Given the description of an element on the screen output the (x, y) to click on. 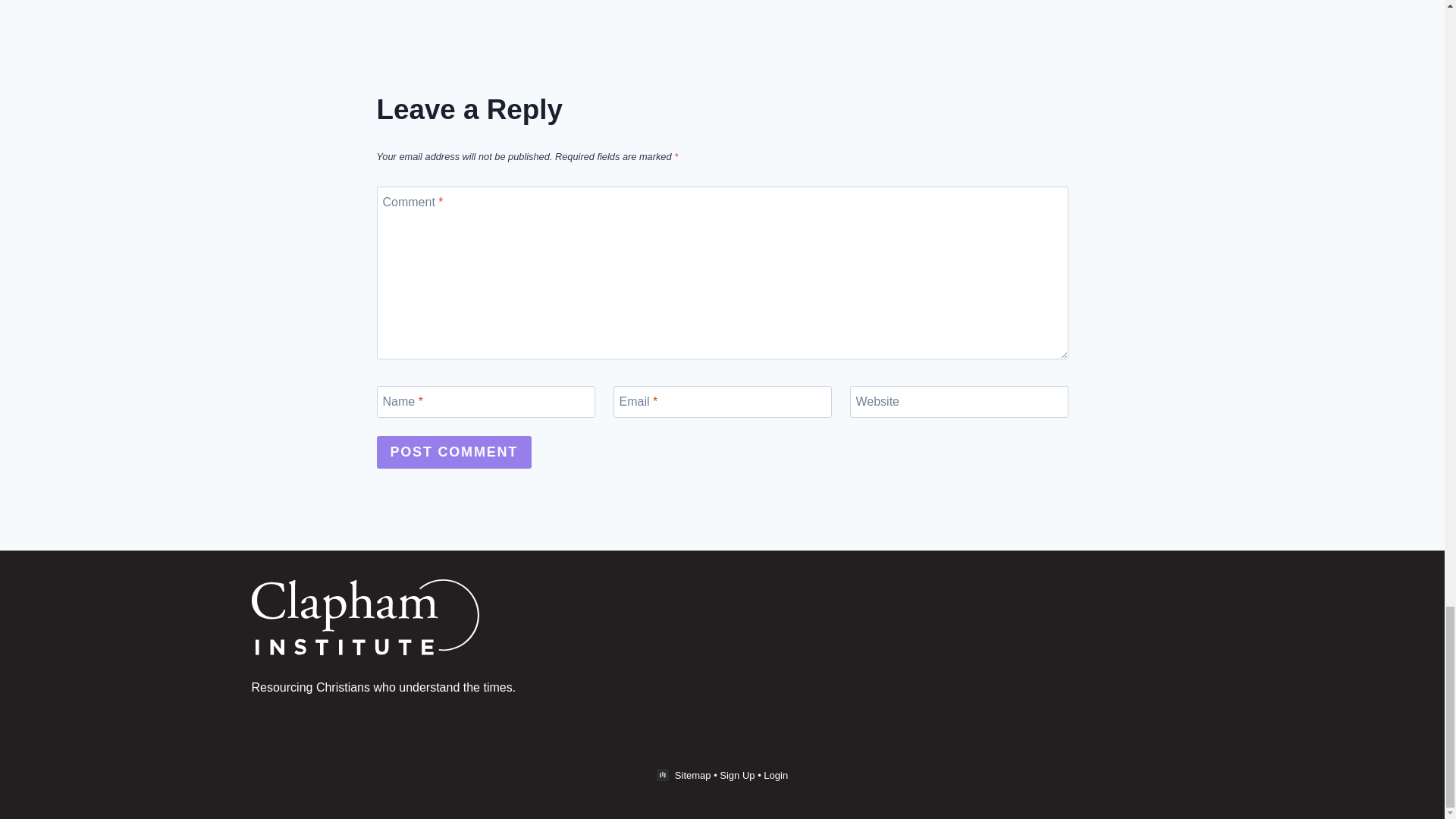
Post Comment (453, 451)
Sitemap (693, 775)
Login (774, 775)
Sign Up (736, 775)
Post Comment (453, 451)
